Given the description of an element on the screen output the (x, y) to click on. 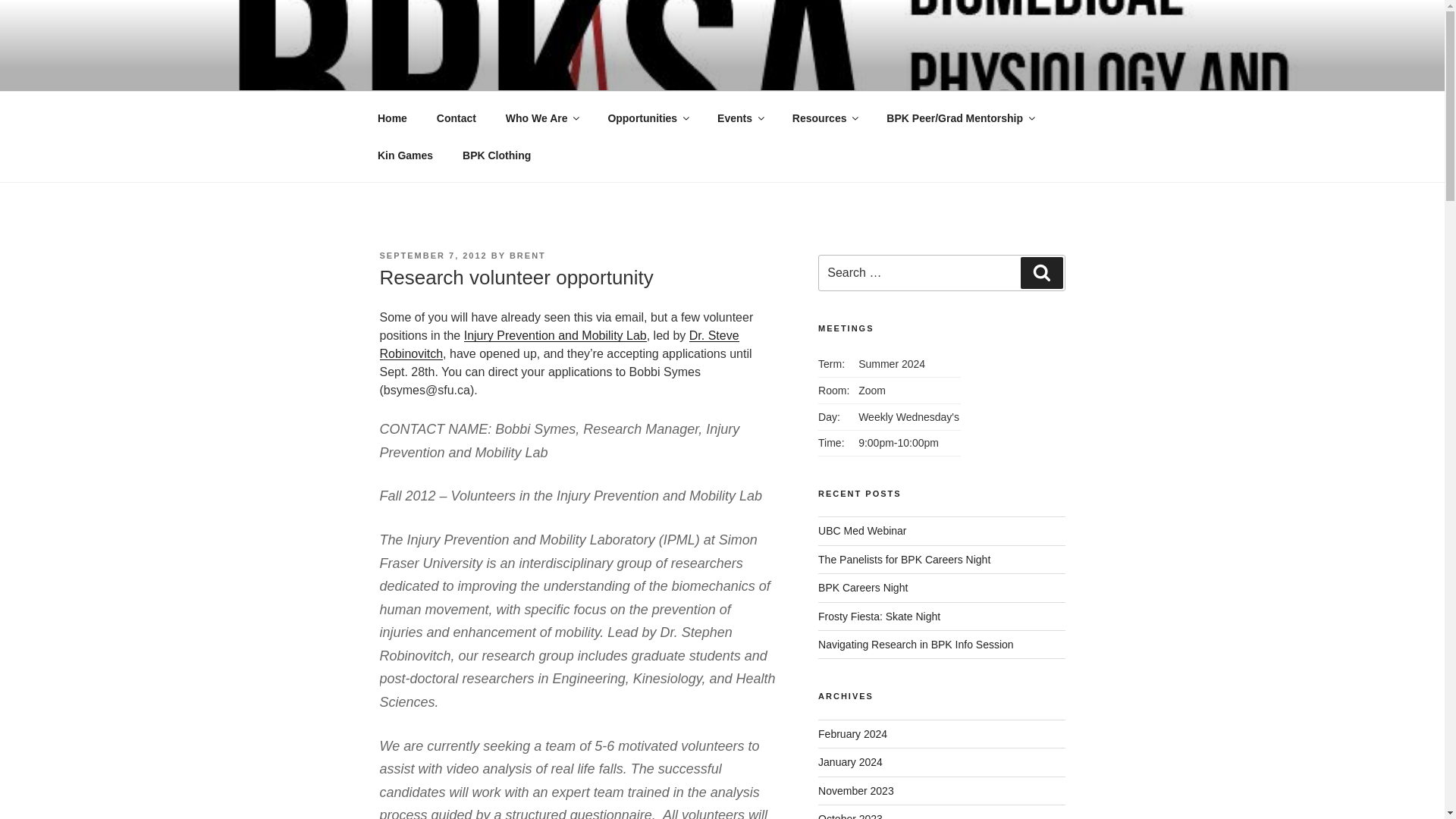
Who We Are (541, 118)
Events (740, 118)
Resources (824, 118)
Home (392, 118)
Contact (456, 118)
Opportunities (647, 118)
